Given the description of an element on the screen output the (x, y) to click on. 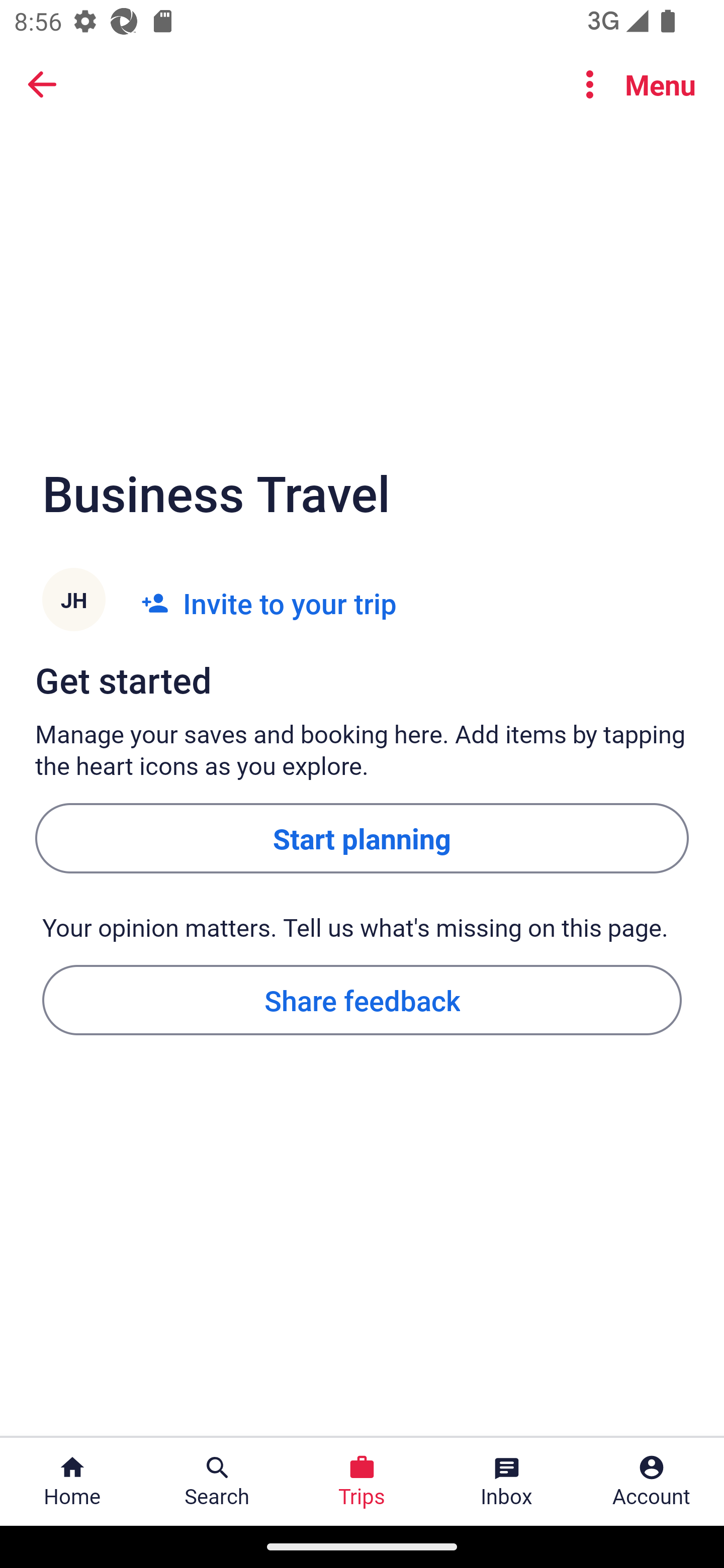
Menu Menu Button (632, 84)
BACK (41, 83)
JH J​H (73, 602)
Share feedback Button Share feedback (361, 999)
Home Home Button (72, 1481)
Search Search Button (216, 1481)
Inbox Inbox Button (506, 1481)
Account Profile. Button (651, 1481)
